Given the description of an element on the screen output the (x, y) to click on. 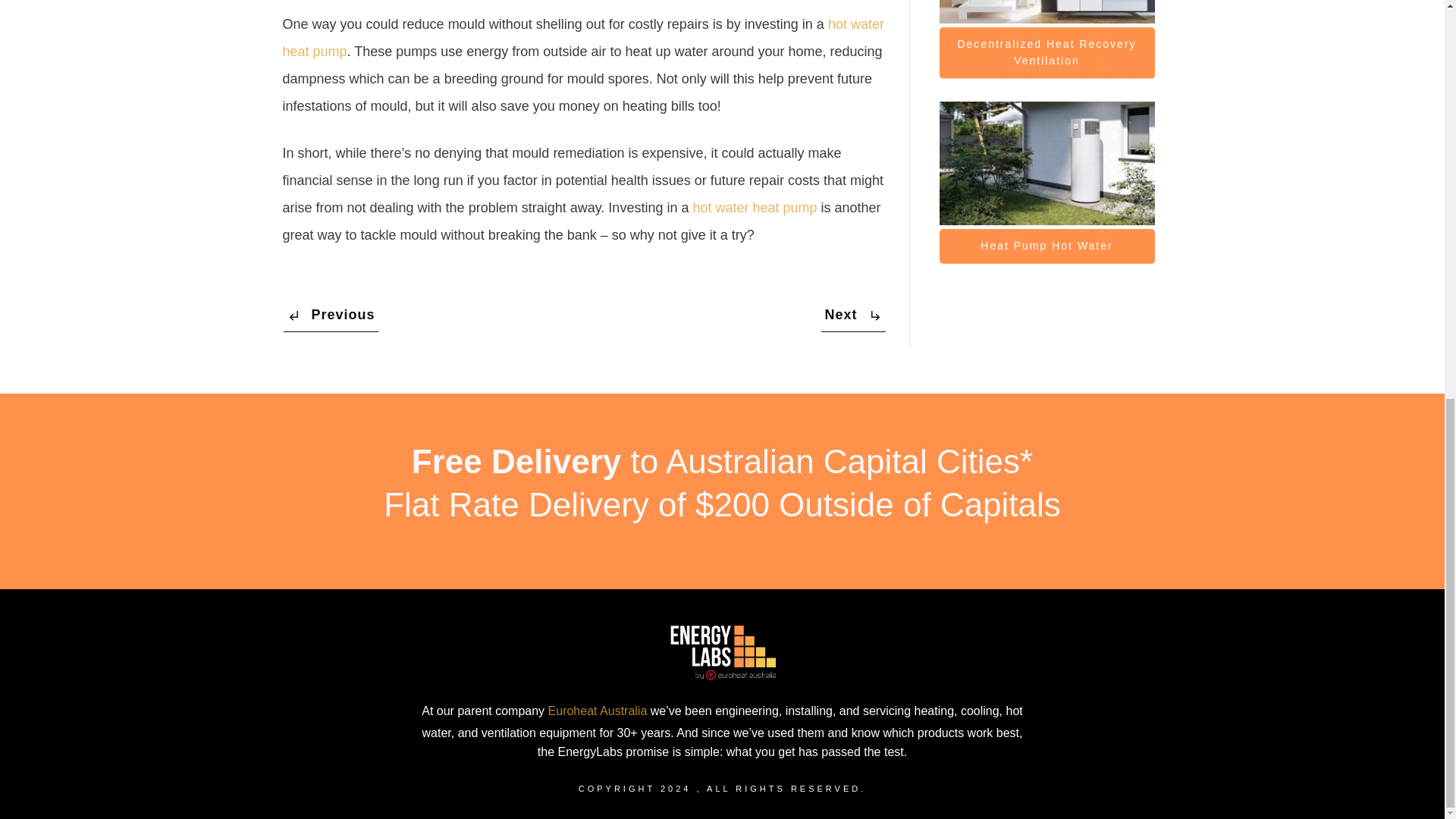
Next (853, 315)
Heat Pump Hot Water (1046, 246)
Previous (330, 315)
wwk-heat-pump-2 (1046, 163)
Euroheat Australia (597, 710)
hot water heat pump (582, 37)
Decentralized Heat Recovery Ventilation (1046, 52)
energylabs-1987956286 (1046, 12)
hot water heat pump (754, 207)
